Given the description of an element on the screen output the (x, y) to click on. 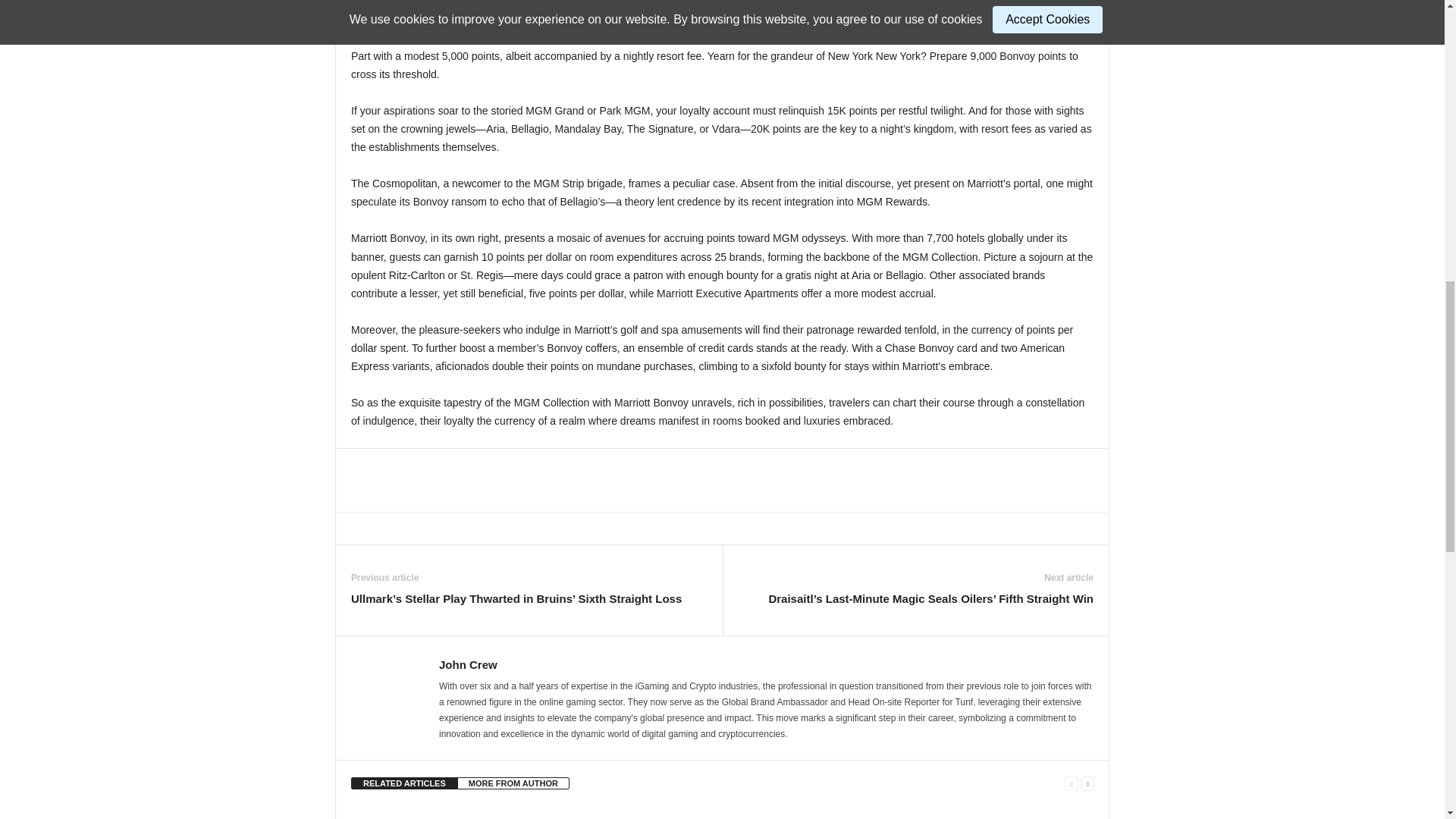
John Crew (468, 664)
RELATED ARTICLES (404, 783)
MORE FROM AUTHOR (513, 783)
